Given the description of an element on the screen output the (x, y) to click on. 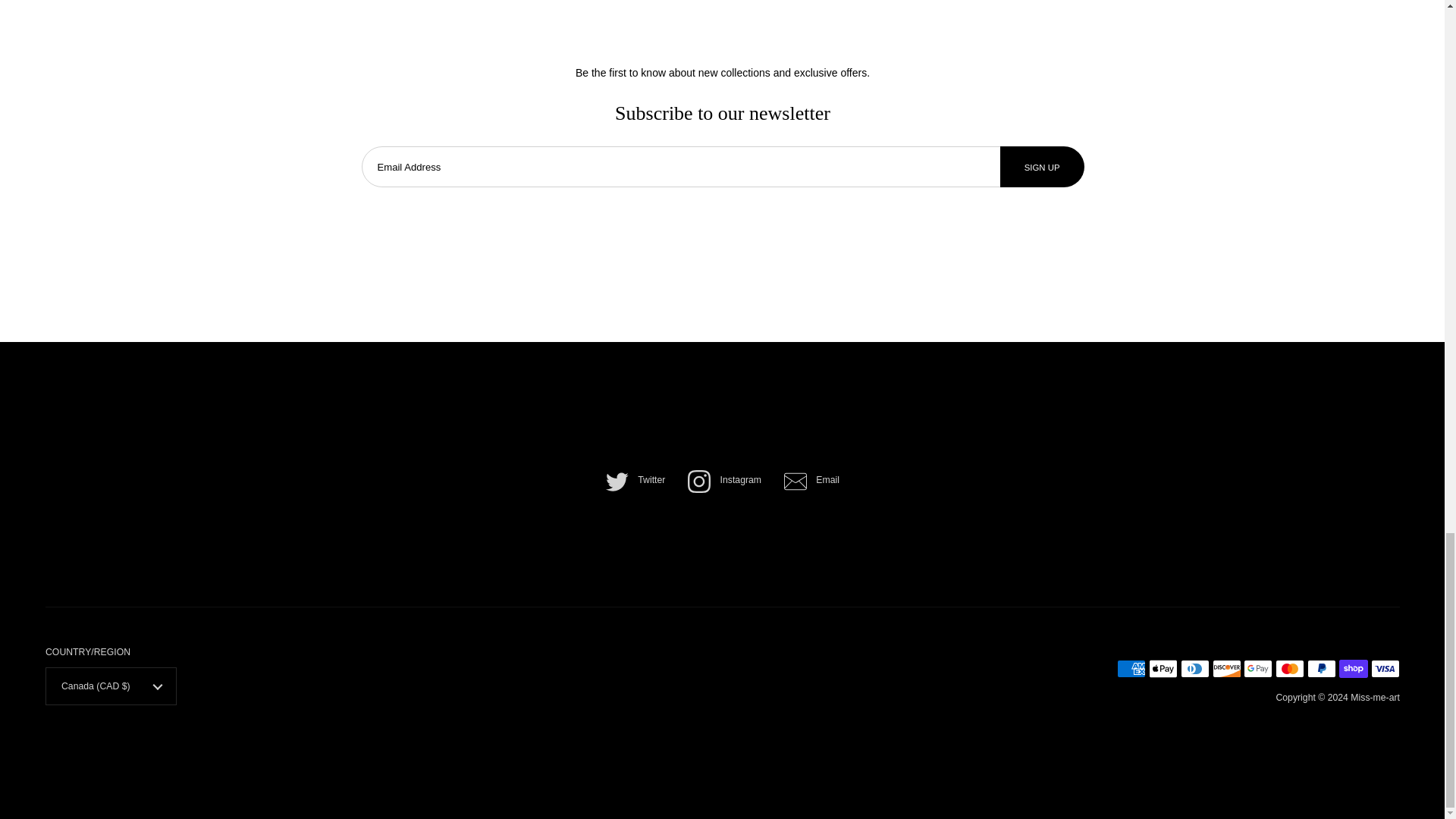
Apple Pay (1162, 669)
SIGN UP (1042, 166)
PayPal (1321, 669)
Mastercard (1289, 669)
American Express (1130, 669)
Diners Club (1194, 669)
Shop Pay (1353, 669)
Google Pay (1257, 669)
Discover (1226, 669)
Visa (1385, 669)
